Given the description of an element on the screen output the (x, y) to click on. 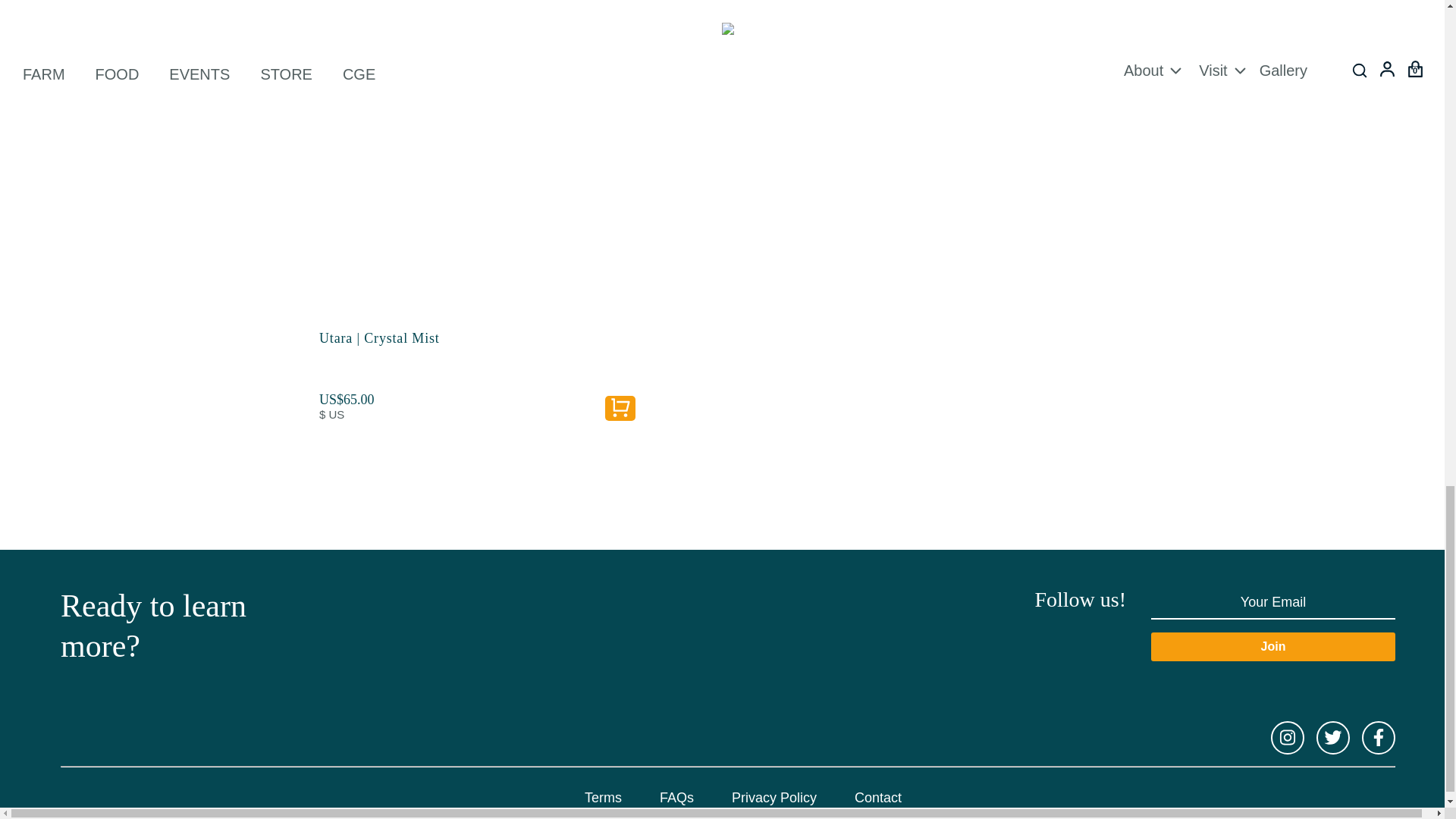
Twitter (1332, 737)
Instagram (1287, 737)
Facebook (1377, 737)
